Given the description of an element on the screen output the (x, y) to click on. 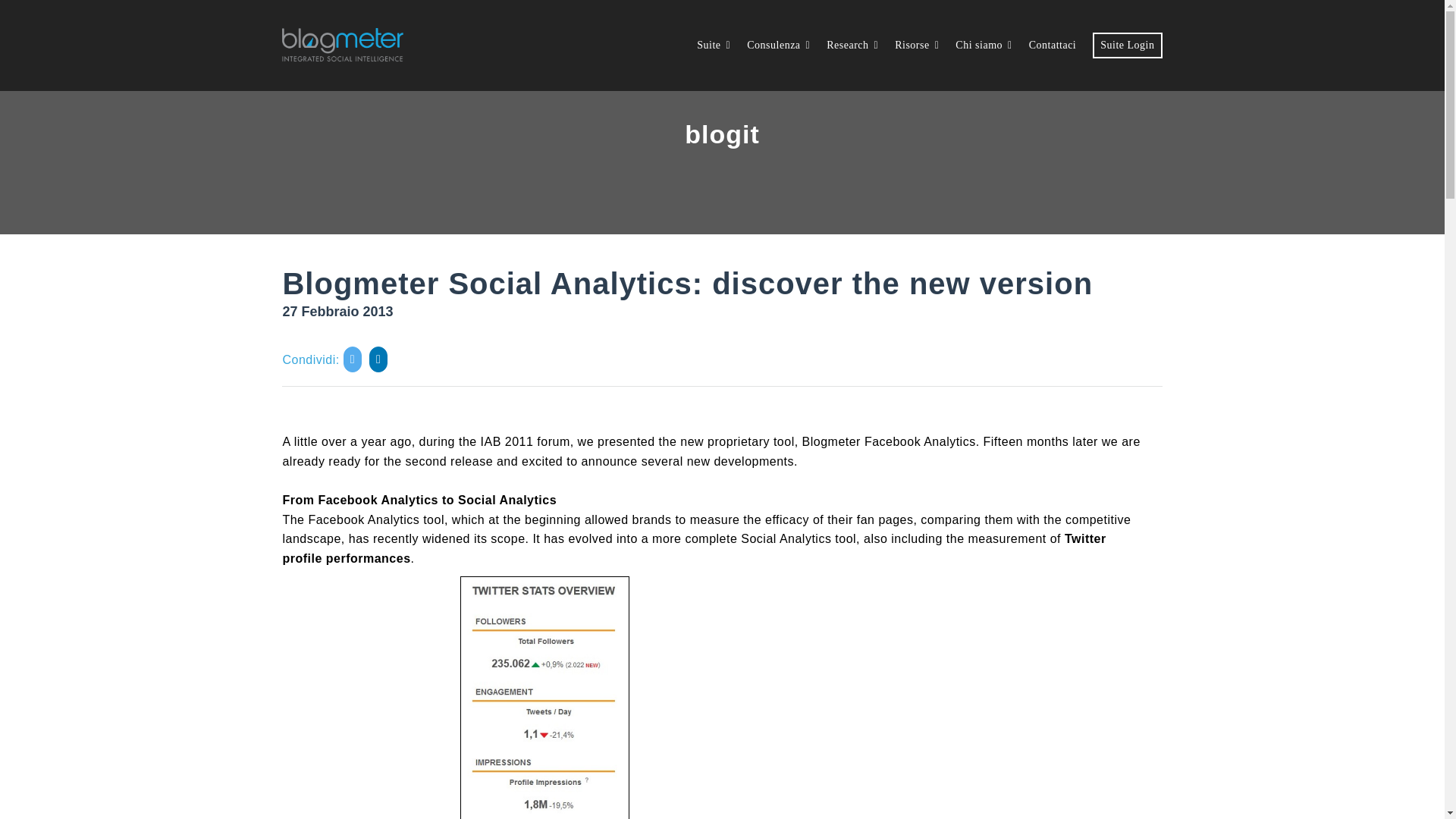
Risorse (917, 45)
Research (852, 45)
Chi siamo (983, 45)
Contattaci (1053, 45)
Suite Login (1127, 45)
Suite (713, 45)
Consulenza (777, 45)
Suite Login (1127, 45)
